Given the description of an element on the screen output the (x, y) to click on. 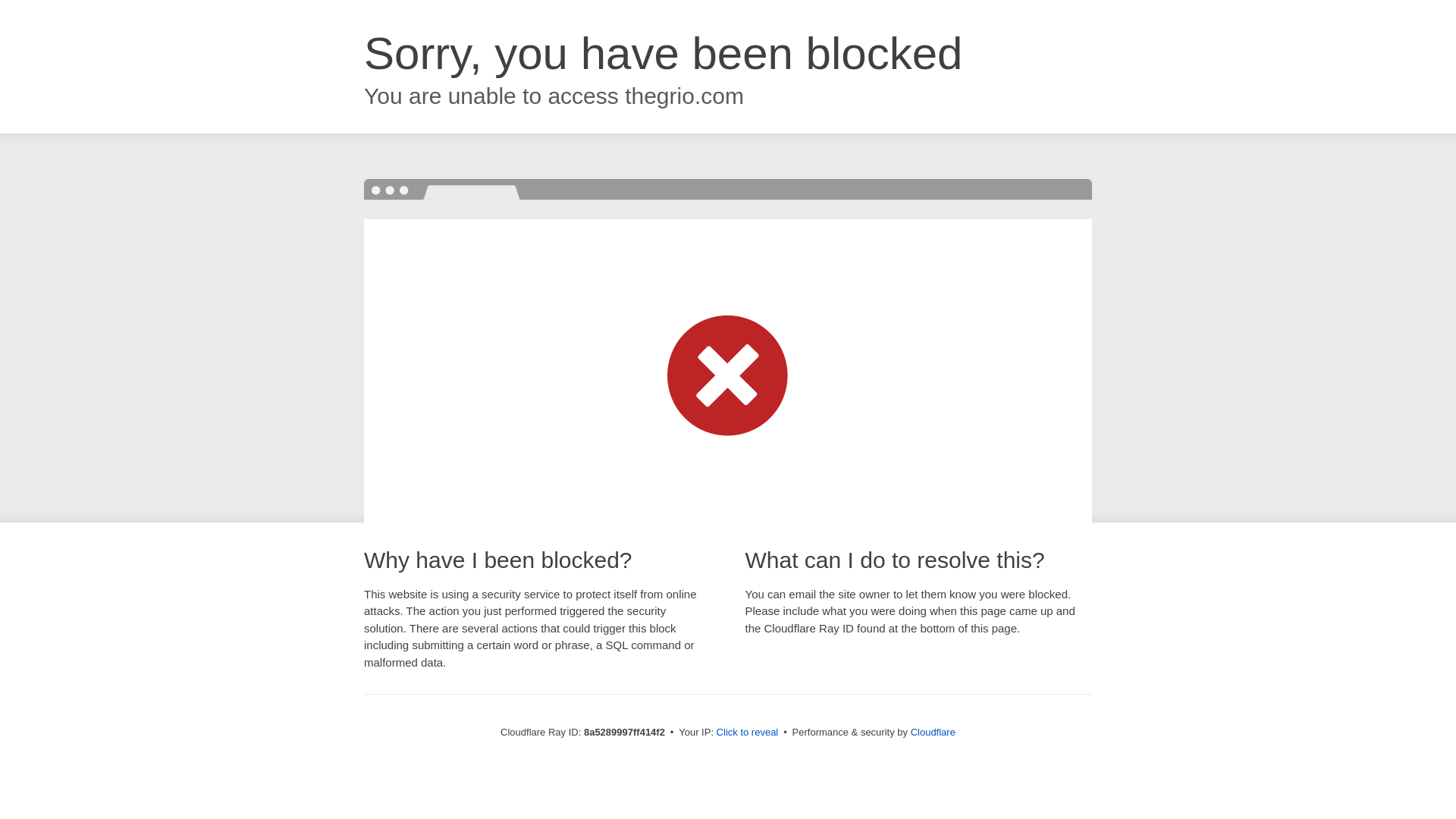
Cloudflare (933, 731)
Click to reveal (747, 732)
